Given the description of an element on the screen output the (x, y) to click on. 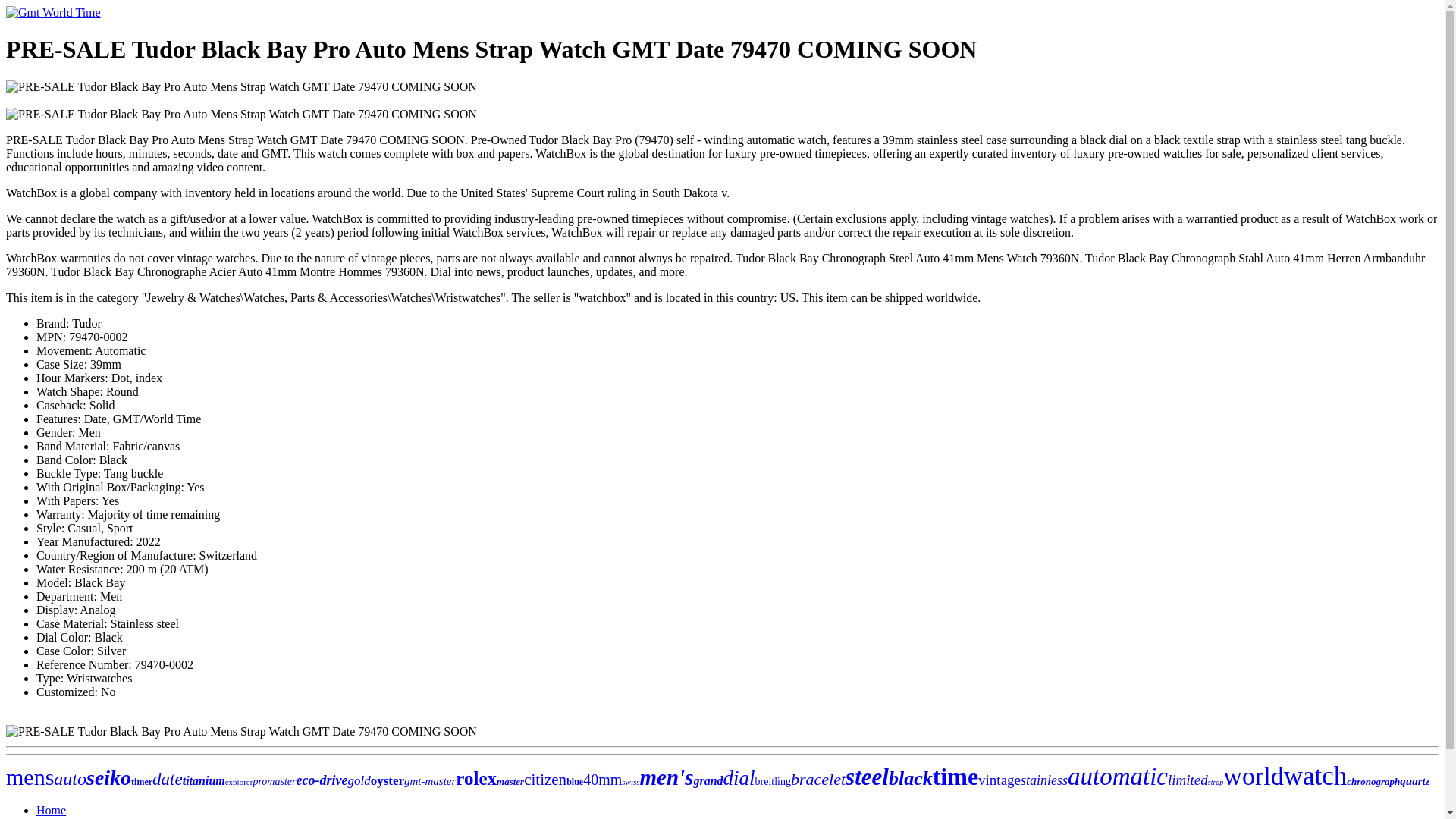
gmt-master (429, 780)
breitling (772, 781)
40mm (602, 779)
citizen (545, 779)
titanium (204, 780)
master (510, 781)
time (955, 776)
steel (866, 776)
